Given the description of an element on the screen output the (x, y) to click on. 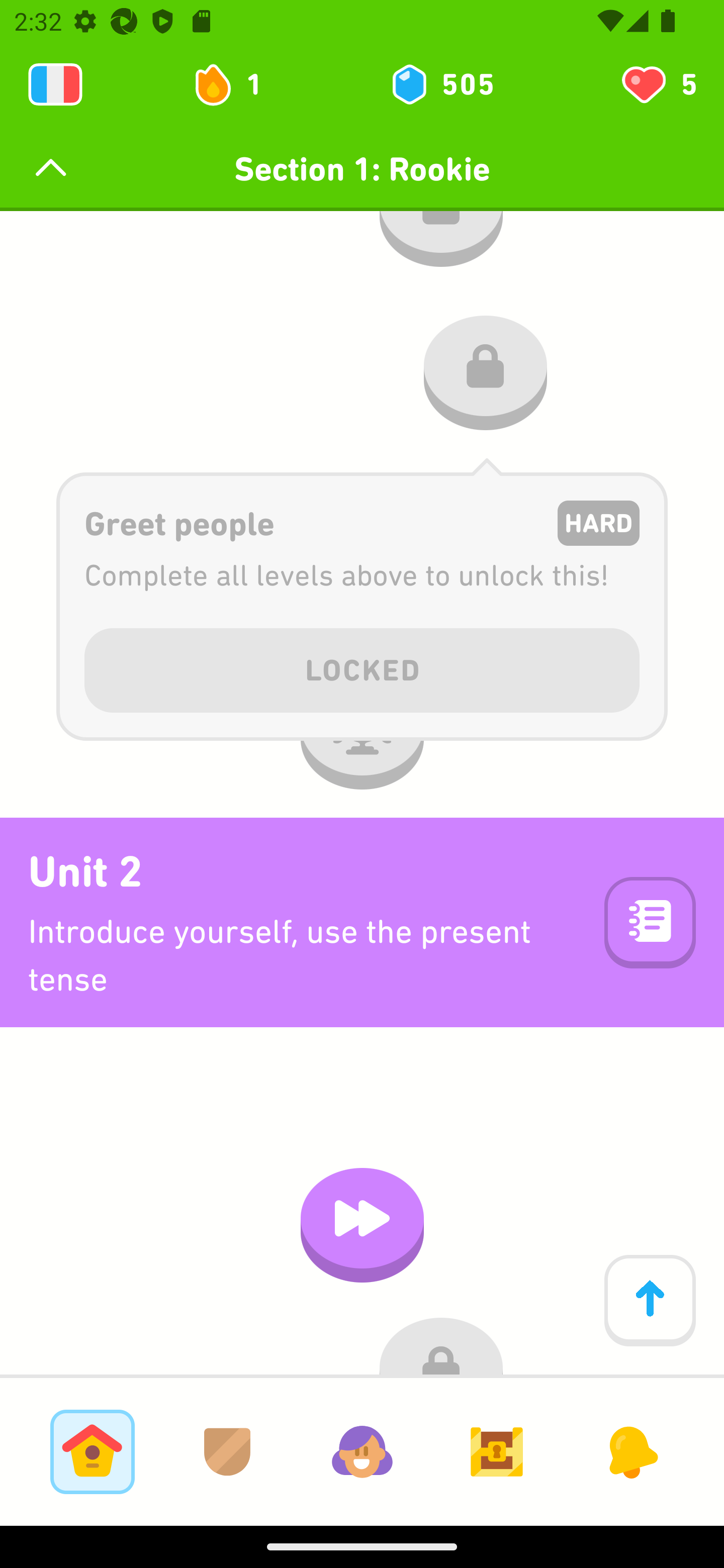
Learning 2131888976 (55, 84)
1 day streak 1 (236, 84)
505 (441, 84)
You have 5 hearts left 5 (657, 84)
Section 1: Rookie (362, 169)
LOCKED (361, 665)
Learn Tab (91, 1451)
Leagues Tab (227, 1451)
Profile Tab (361, 1451)
Goals Tab (496, 1451)
News Tab (631, 1451)
